Given the description of an element on the screen output the (x, y) to click on. 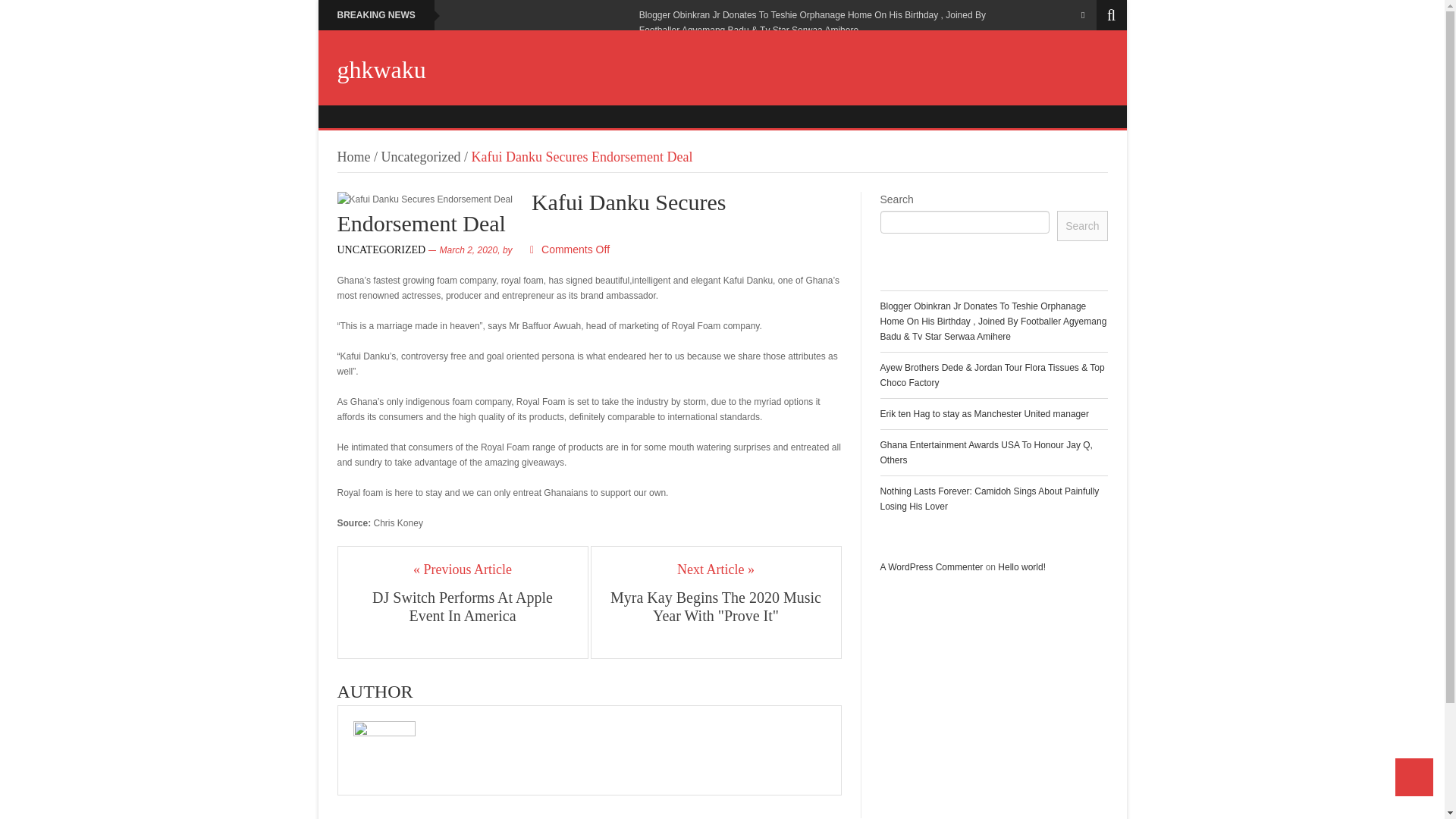
DJ Switch Performs At Apple Event In America (462, 606)
Hello world! (1021, 566)
Ghana Entertainment Awards USA To Honour Jay Q, Others (985, 452)
A WordPress Commenter (930, 566)
UNCATEGORIZED (380, 249)
Myra Kay Begins The 2020 Music Year With "Prove It" (716, 606)
Back to Top (1413, 777)
Home (352, 156)
Uncategorized (421, 156)
